Given the description of an element on the screen output the (x, y) to click on. 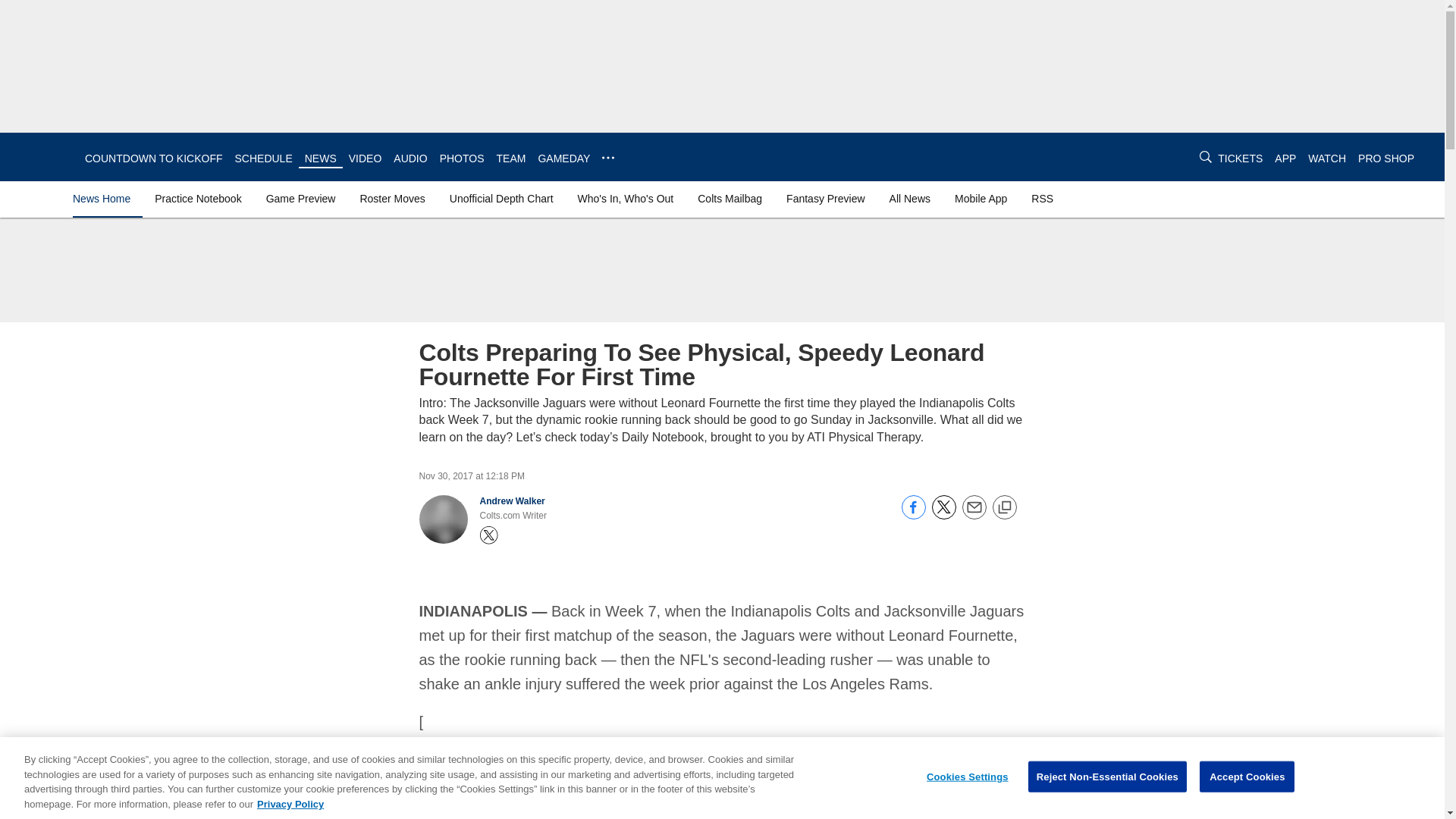
Practice Notebook (197, 198)
PHOTOS (461, 158)
Colts Mailbag (729, 198)
SCHEDULE (263, 158)
Unofficial Depth Chart (501, 198)
WATCH (1326, 158)
AUDIO (409, 158)
SCHEDULE (263, 158)
COUNTDOWN TO KICKOFF (153, 158)
News Home (104, 198)
